Given the description of an element on the screen output the (x, y) to click on. 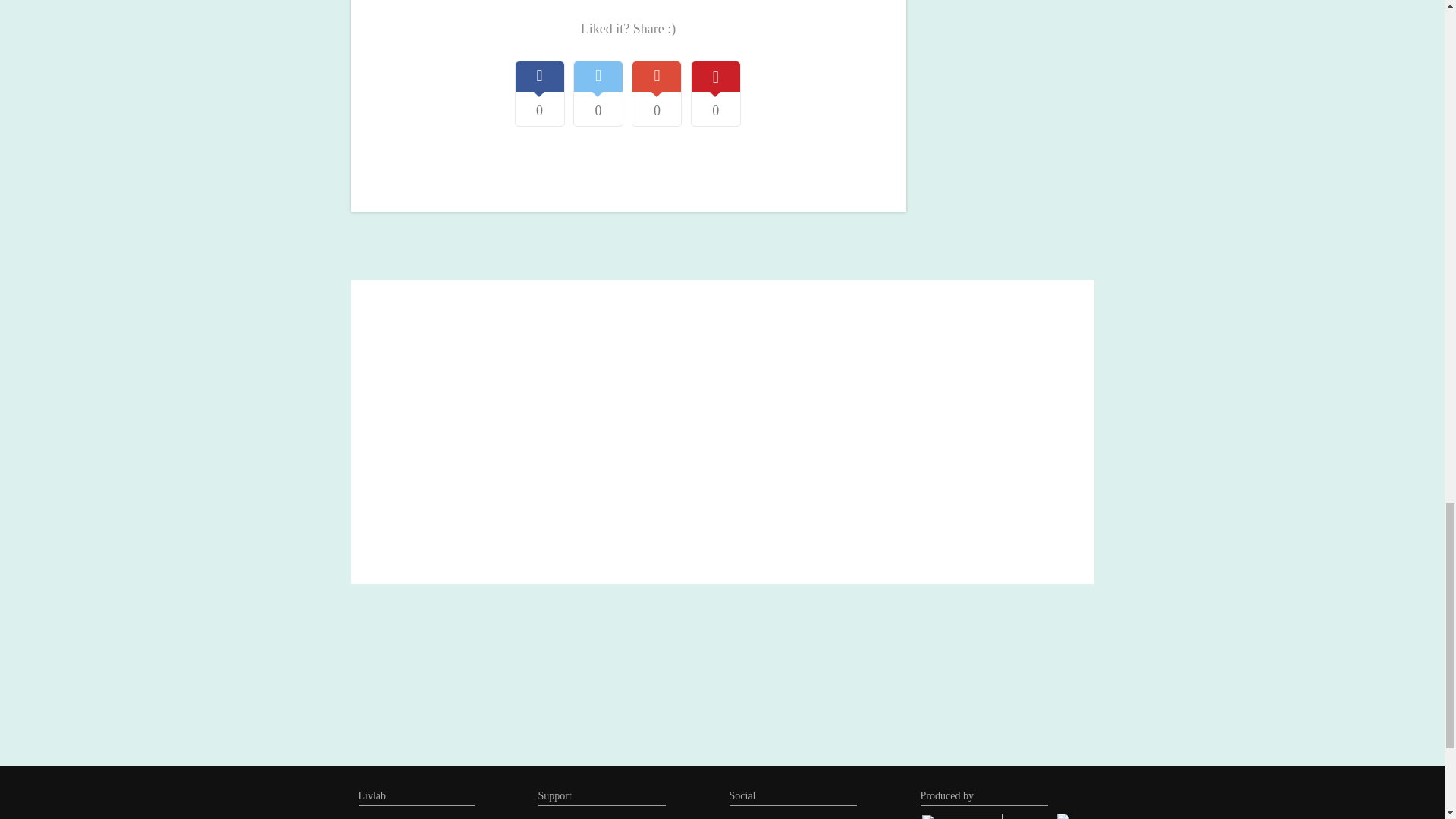
Blog (367, 817)
Login (550, 817)
